Given the description of an element on the screen output the (x, y) to click on. 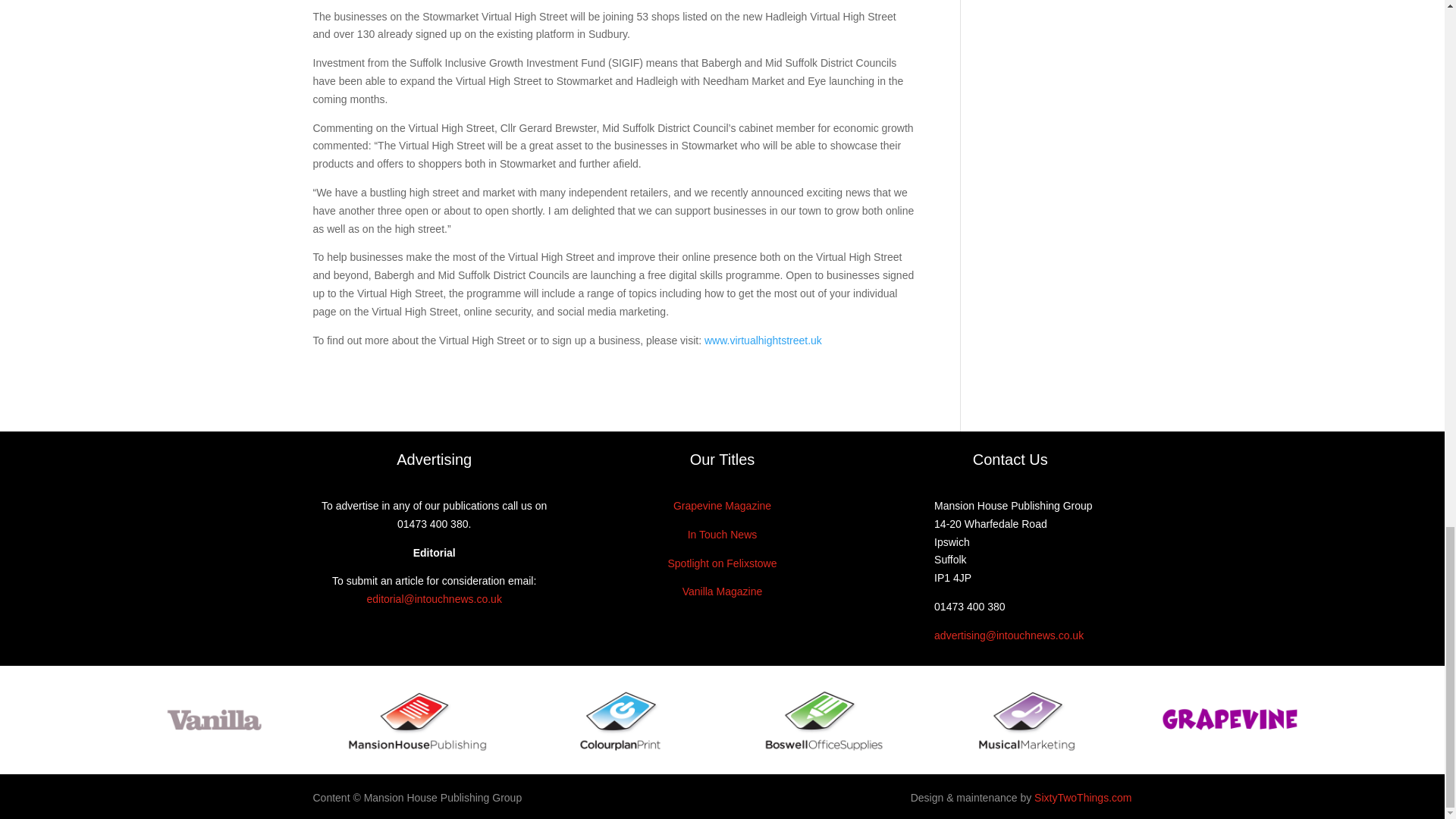
wsa-logo-vanilla-2 (213, 719)
www.virtualhightstreet.uk (763, 340)
Grapevine Magazine (721, 505)
wsa-logo-musicalmarketing-png-800 (1026, 719)
wsa-logo-colourplan-png-800 (620, 719)
In Touch News (722, 534)
Spotlight on Felixstowe (721, 563)
Vanilla Magazine (722, 591)
wsa-logo-mansionhouse-png-800 (416, 719)
wsa-logo-grapevine (1230, 719)
wsa-logo-boswelloffice-png-800 (823, 719)
